Given the description of an element on the screen output the (x, y) to click on. 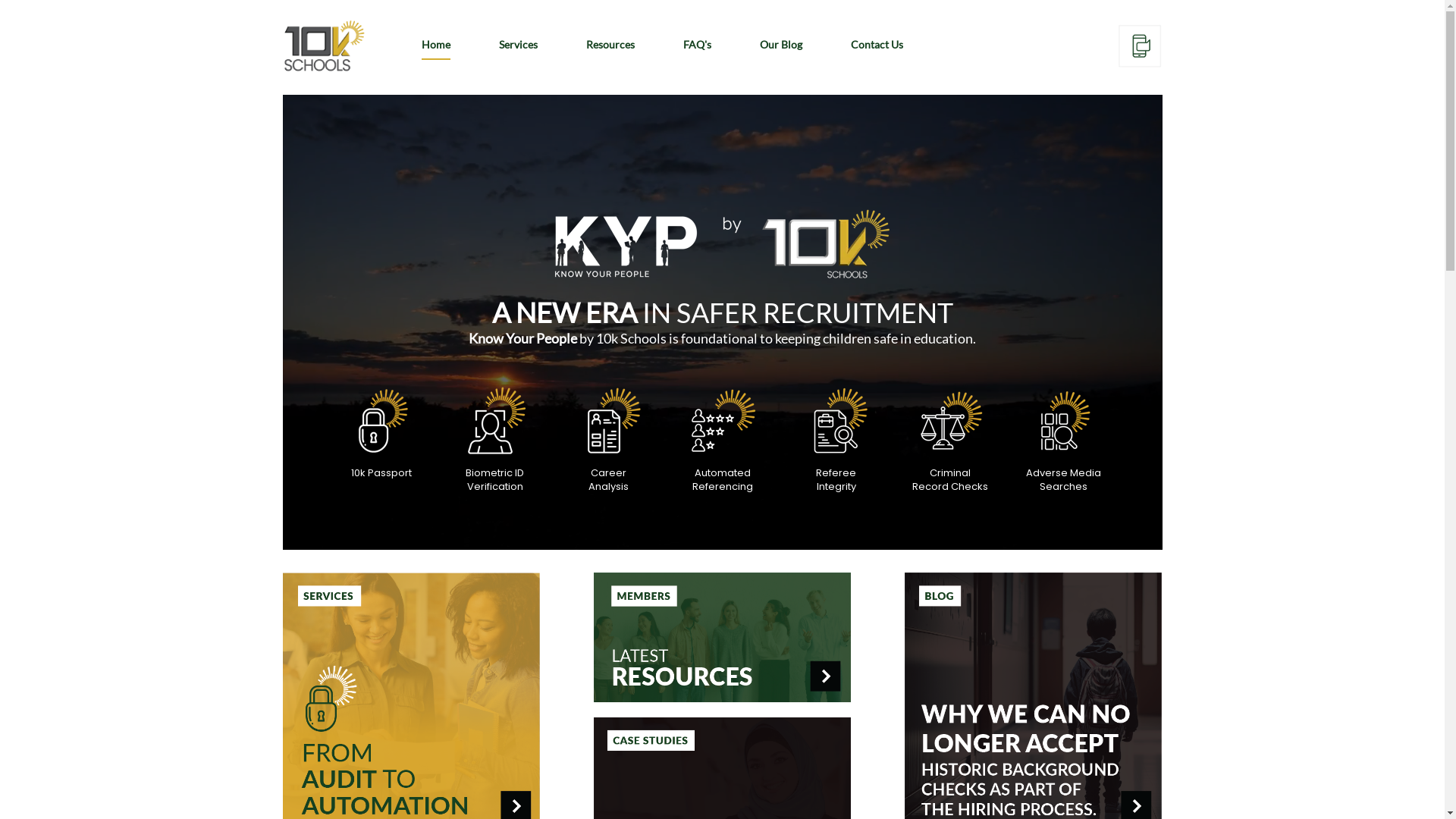
Home Element type: text (435, 44)
Our Blog Element type: text (780, 44)
FAQ's Element type: text (697, 44)
Resources Element type: text (610, 44)
Latest Resources Element type: hover (721, 637)
Services Element type: text (517, 44)
Contact Us Element type: text (876, 44)
